Given the description of an element on the screen output the (x, y) to click on. 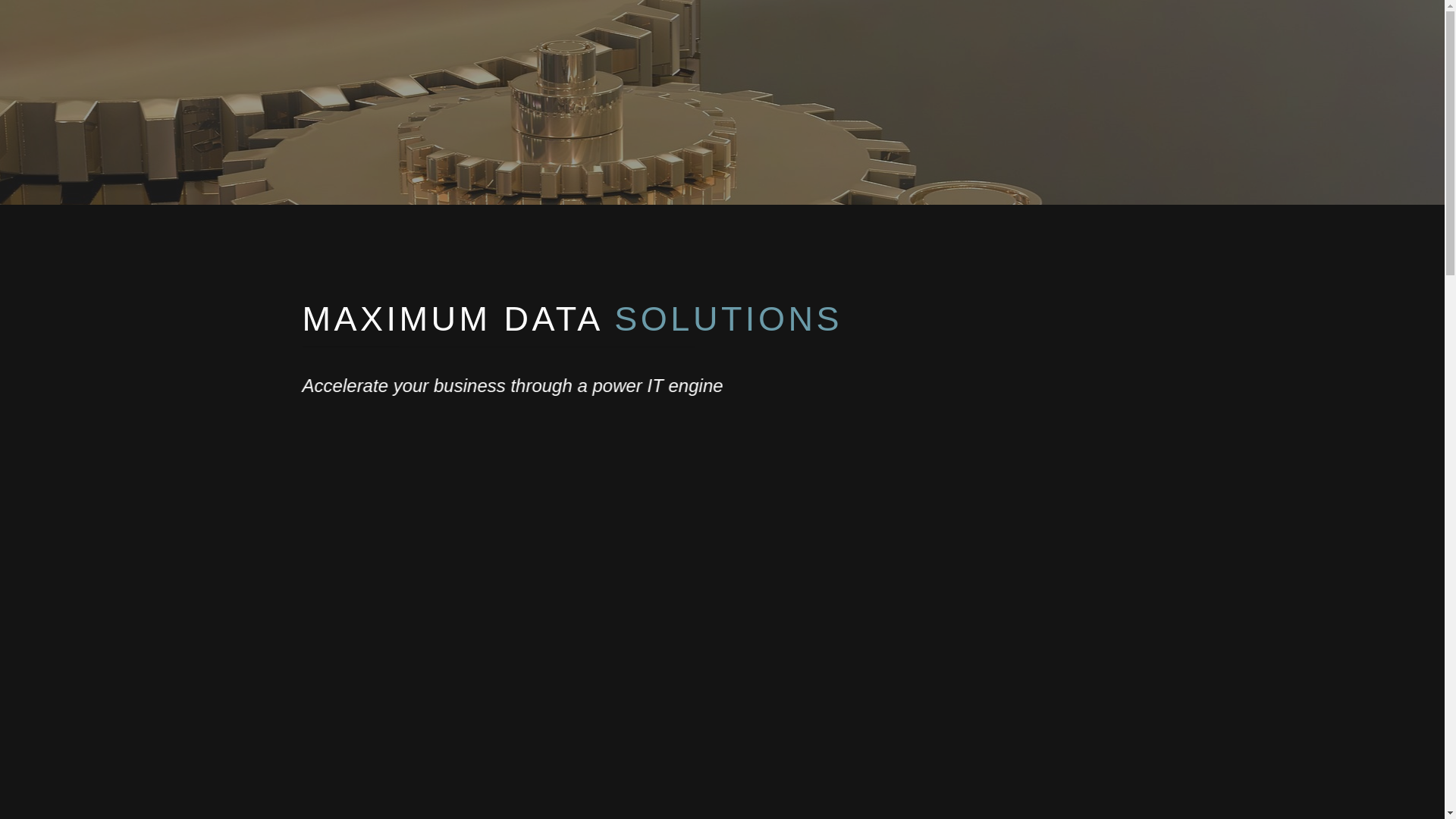
Our Mission (830, 30)
Internships (929, 30)
Contact (1017, 30)
Internships (929, 30)
Job Portal (1100, 30)
Home (746, 30)
Contact (1017, 30)
Our Mission (830, 30)
